Given the description of an element on the screen output the (x, y) to click on. 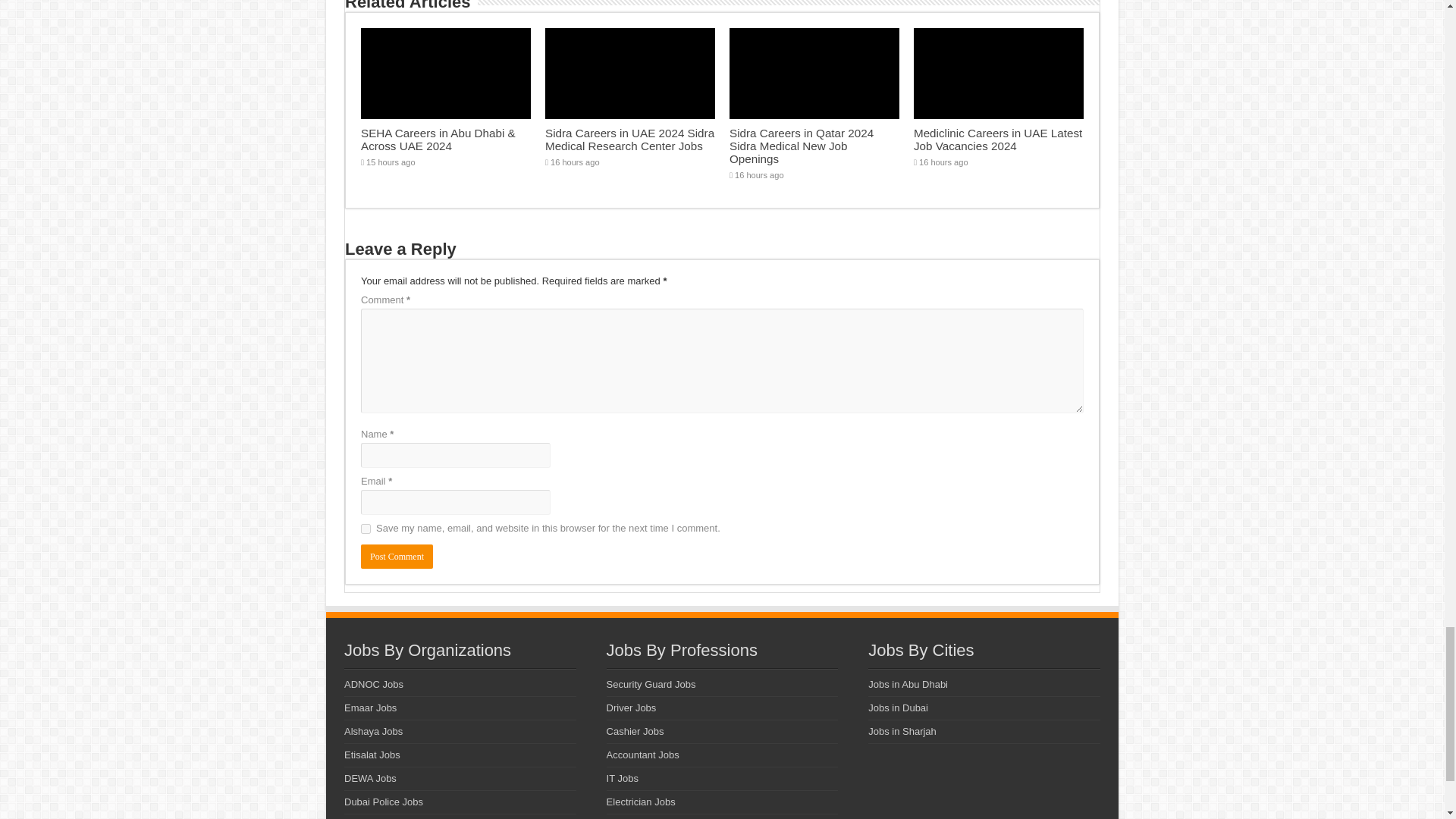
yes (366, 528)
Post Comment (396, 556)
